Given the description of an element on the screen output the (x, y) to click on. 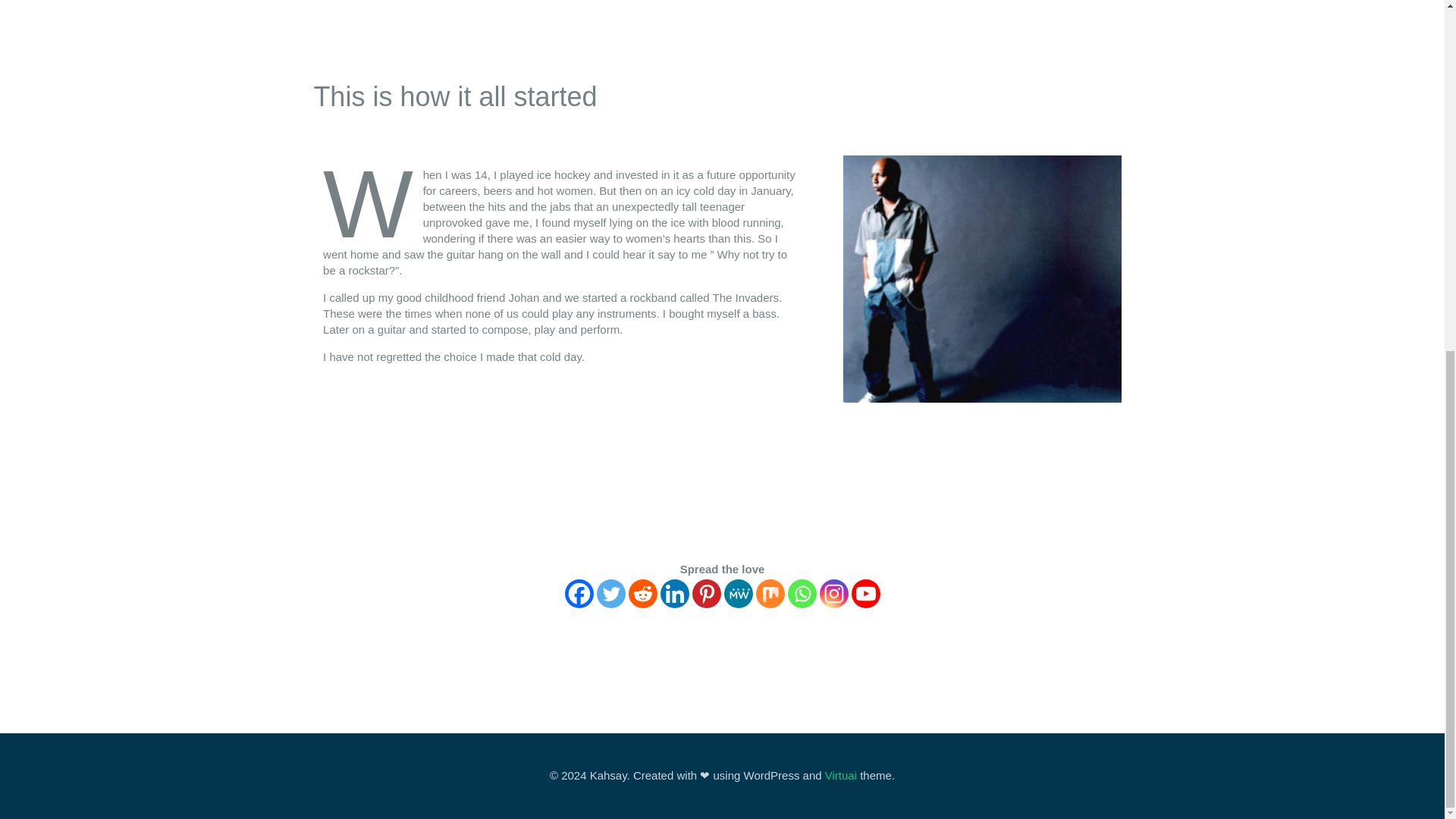
Linkedin (673, 593)
Facebook (578, 593)
Virtuai (841, 775)
MeWe (737, 593)
Reddit (641, 593)
Youtube (864, 593)
Whatsapp (801, 593)
Mix (769, 593)
Pinterest (705, 593)
Instagram (832, 593)
